Given the description of an element on the screen output the (x, y) to click on. 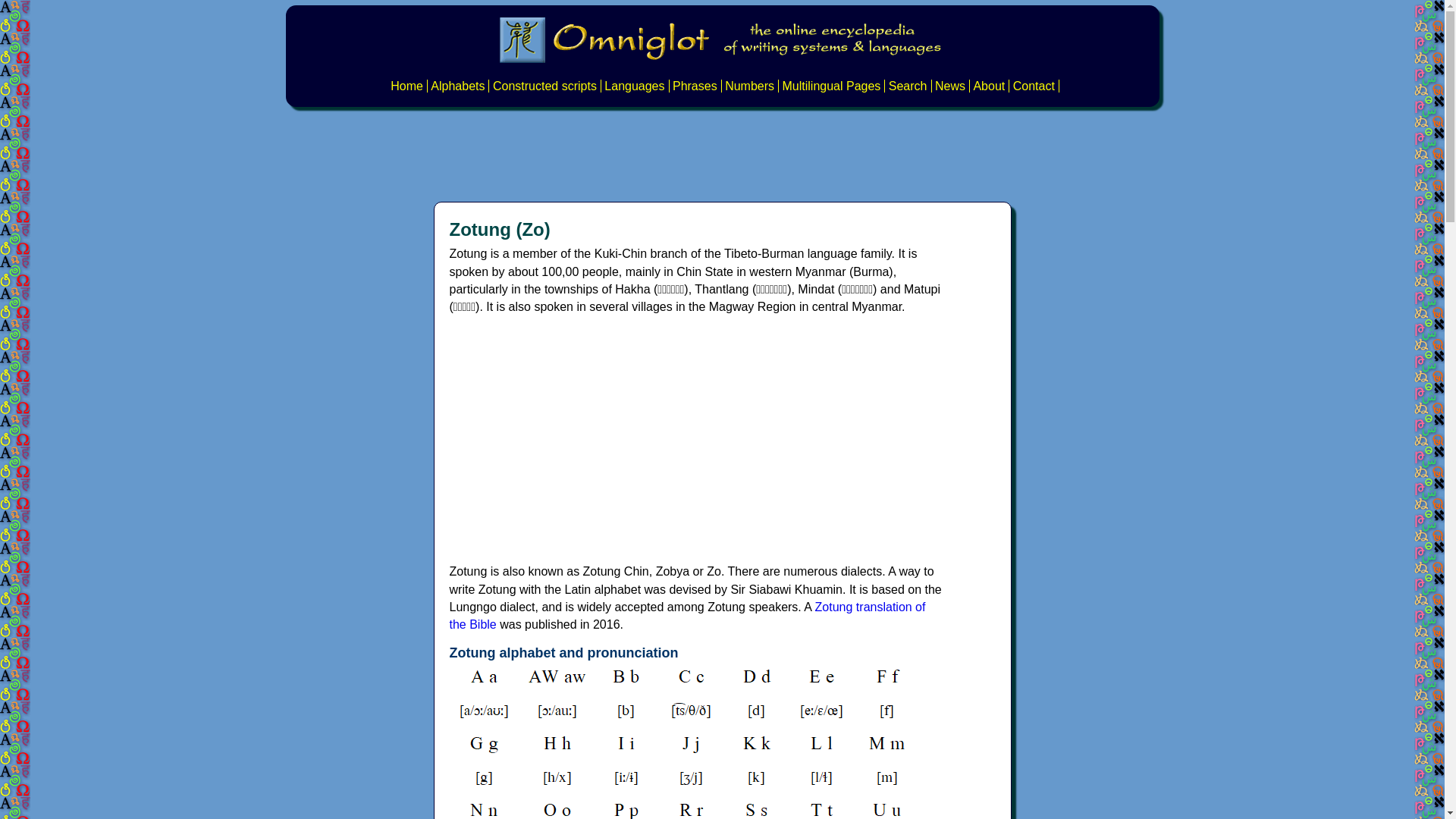
Multilingual Pages (830, 85)
Search (907, 85)
Contact (1033, 85)
News (949, 85)
Phrases (694, 85)
Zotung translation of the Bible (686, 615)
Constructed scripts (544, 85)
Languages (633, 85)
Alphabets (457, 85)
About (988, 85)
